Given the description of an element on the screen output the (x, y) to click on. 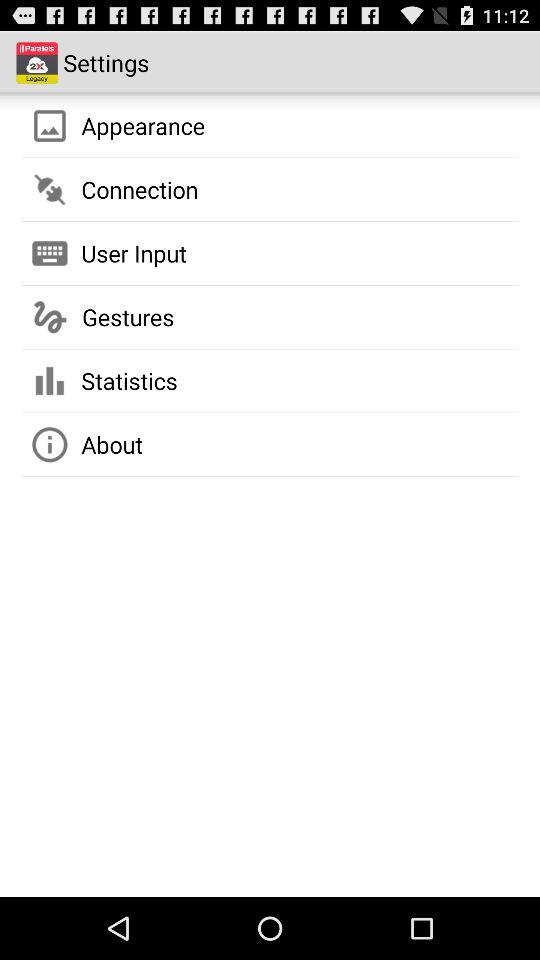
choose gestures item (128, 317)
